Given the description of an element on the screen output the (x, y) to click on. 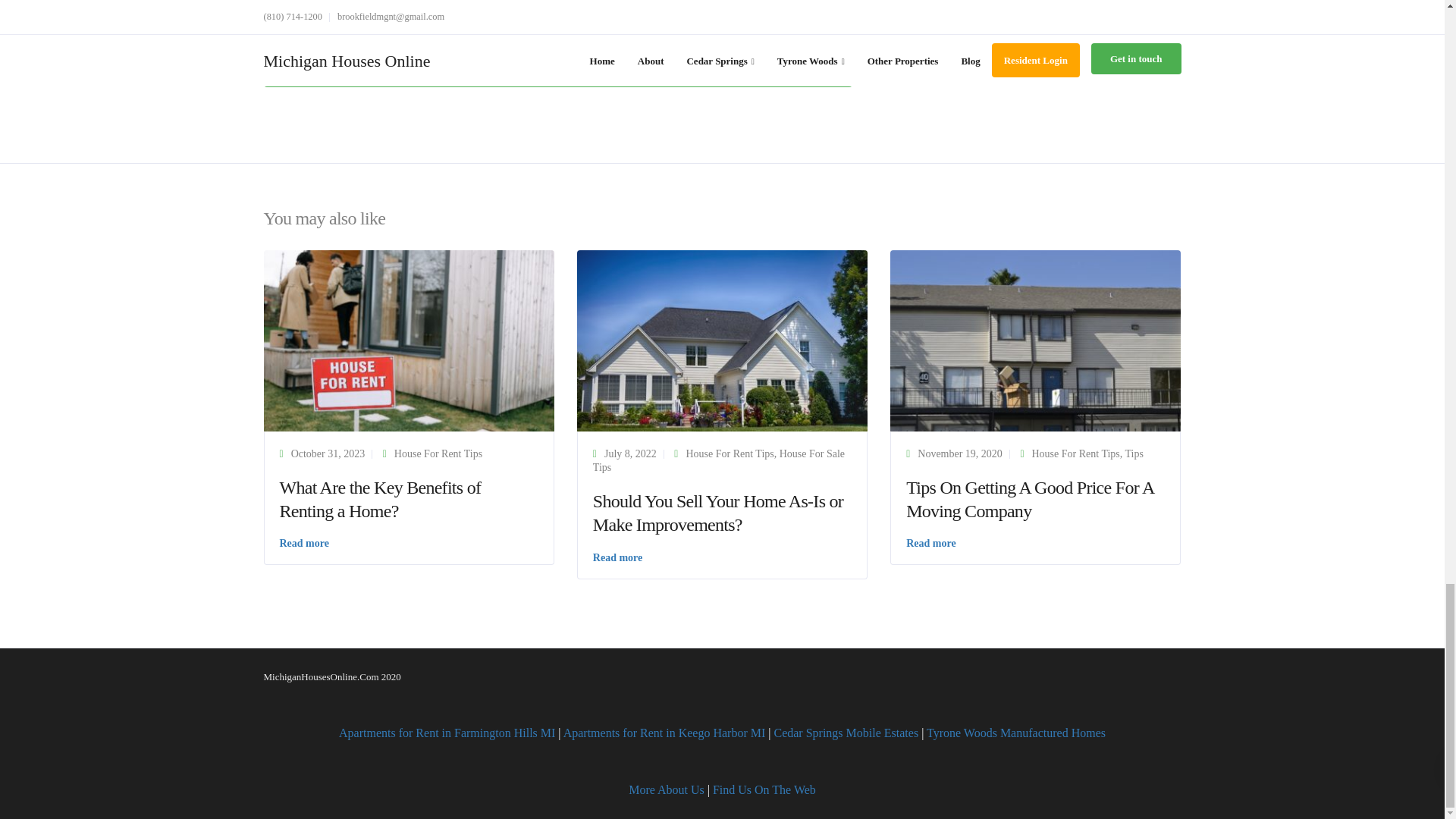
Post Comment (558, 67)
